Given the description of an element on the screen output the (x, y) to click on. 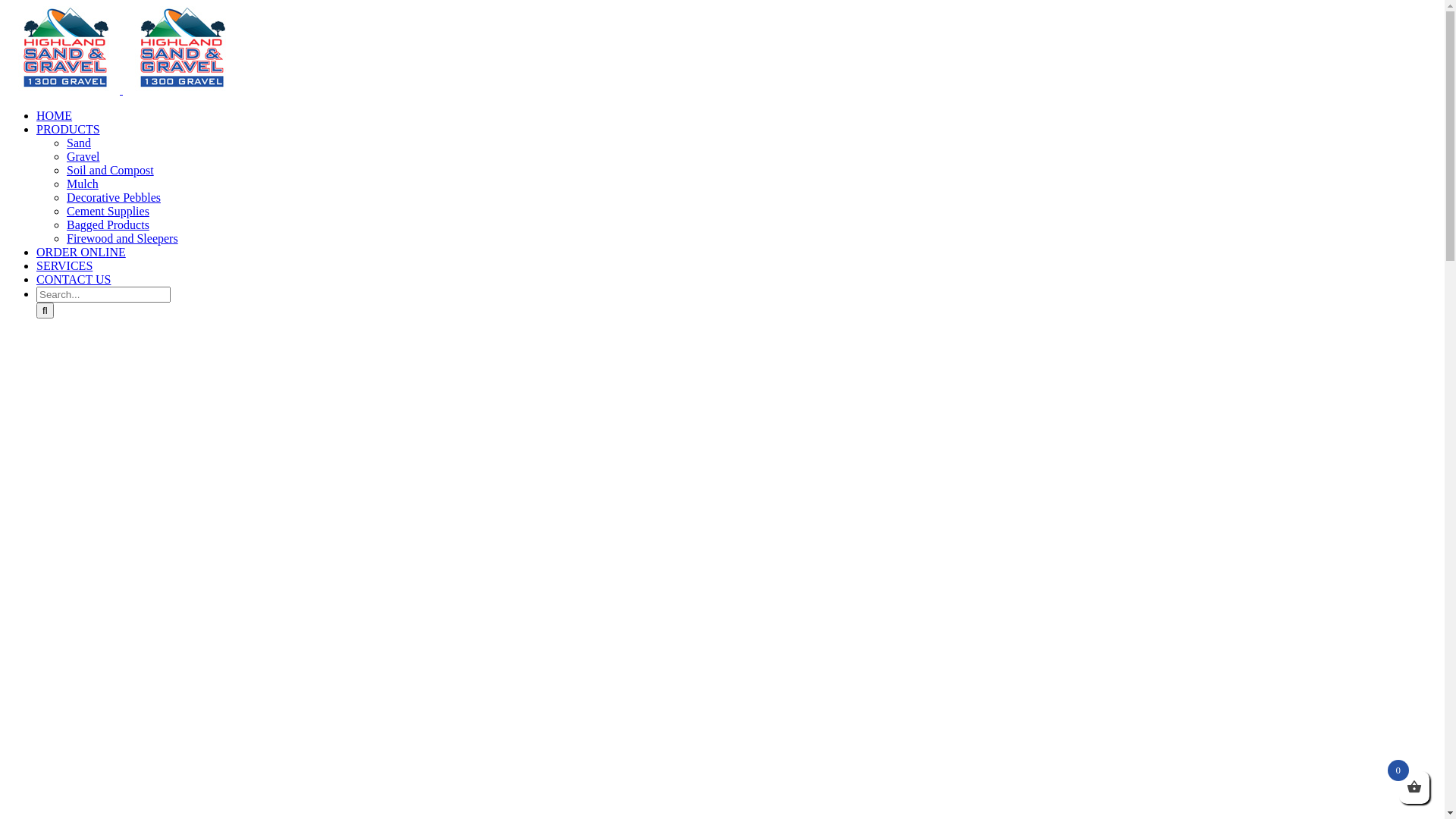
HOME Element type: text (62, 115)
PRODUCTS Element type: text (85, 128)
Bagged Products Element type: text (107, 224)
Sand Element type: text (78, 142)
Gravel Element type: text (83, 156)
Cement Supplies Element type: text (107, 210)
CONTACT US Element type: text (82, 279)
Soil and Compost Element type: text (109, 169)
Decorative Pebbles Element type: text (113, 197)
SERVICES Element type: text (72, 265)
Firewood and Sleepers Element type: text (122, 238)
Mulch Element type: text (82, 183)
Skip to content Element type: text (5, 5)
ORDER ONLINE Element type: text (80, 251)
